Given the description of an element on the screen output the (x, y) to click on. 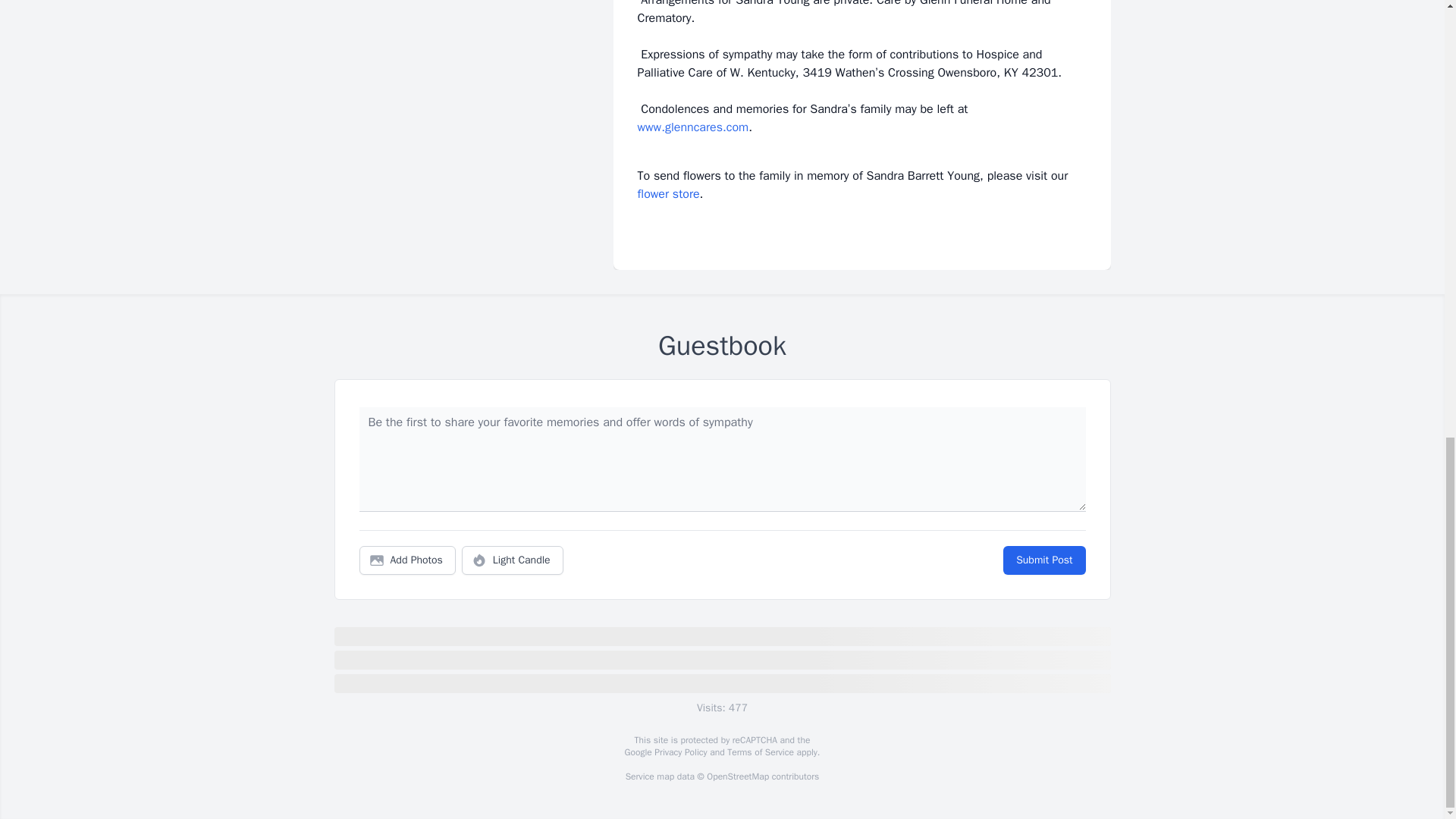
flower store (667, 193)
Add Photos (407, 560)
Submit Post (1043, 560)
Light Candle (512, 560)
Privacy Policy (679, 752)
www.glenncares.com (692, 127)
Terms of Service (759, 752)
OpenStreetMap (737, 776)
